Given the description of an element on the screen output the (x, y) to click on. 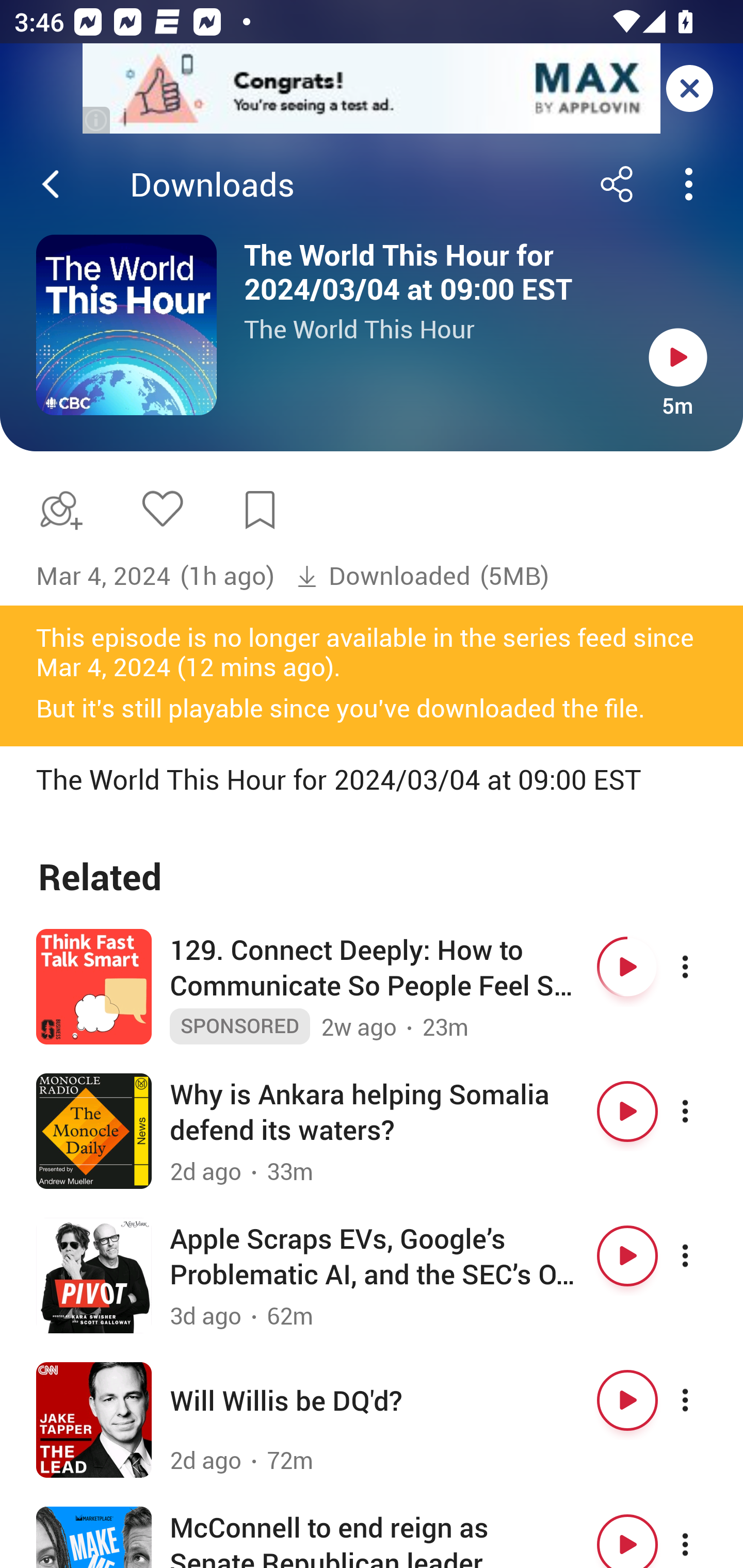
app-monetization (371, 88)
(i) (96, 119)
Back (50, 184)
Open series (126, 325)
Play button (677, 357)
Like (161, 507)
Add episode to Play Later (57, 509)
New bookmark … (259, 510)
Downloaded (383, 576)
Play button (627, 966)
More options (703, 966)
Play button (627, 1111)
More options (703, 1111)
Play button (627, 1255)
More options (703, 1255)
Play button (627, 1400)
More options (703, 1400)
Play button (627, 1536)
More options (703, 1536)
